Given the description of an element on the screen output the (x, y) to click on. 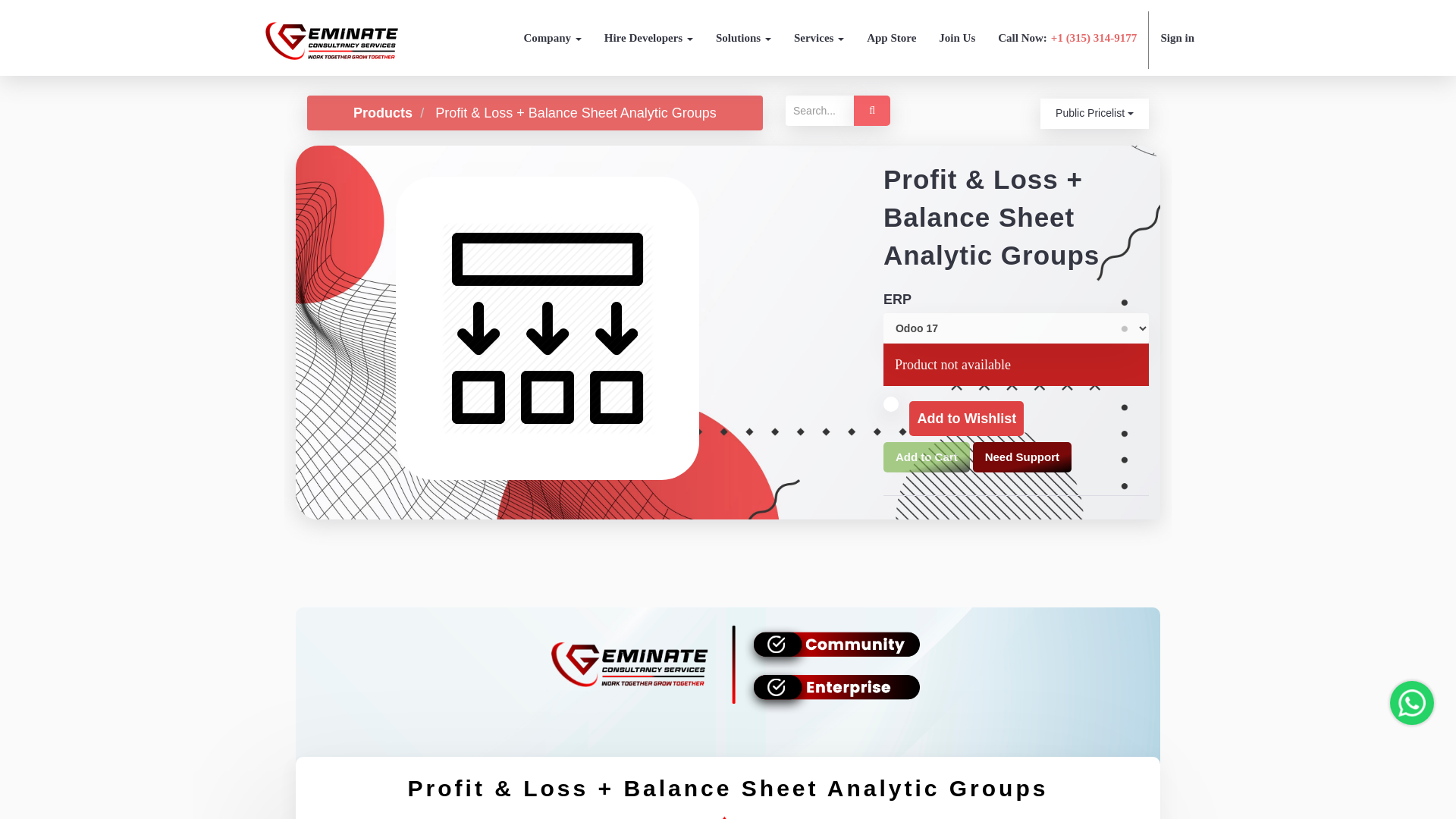
Hire Developers (648, 38)
Services (819, 38)
Solutions (743, 38)
Company (552, 38)
Geminate Consultancy Services (331, 54)
